Given the description of an element on the screen output the (x, y) to click on. 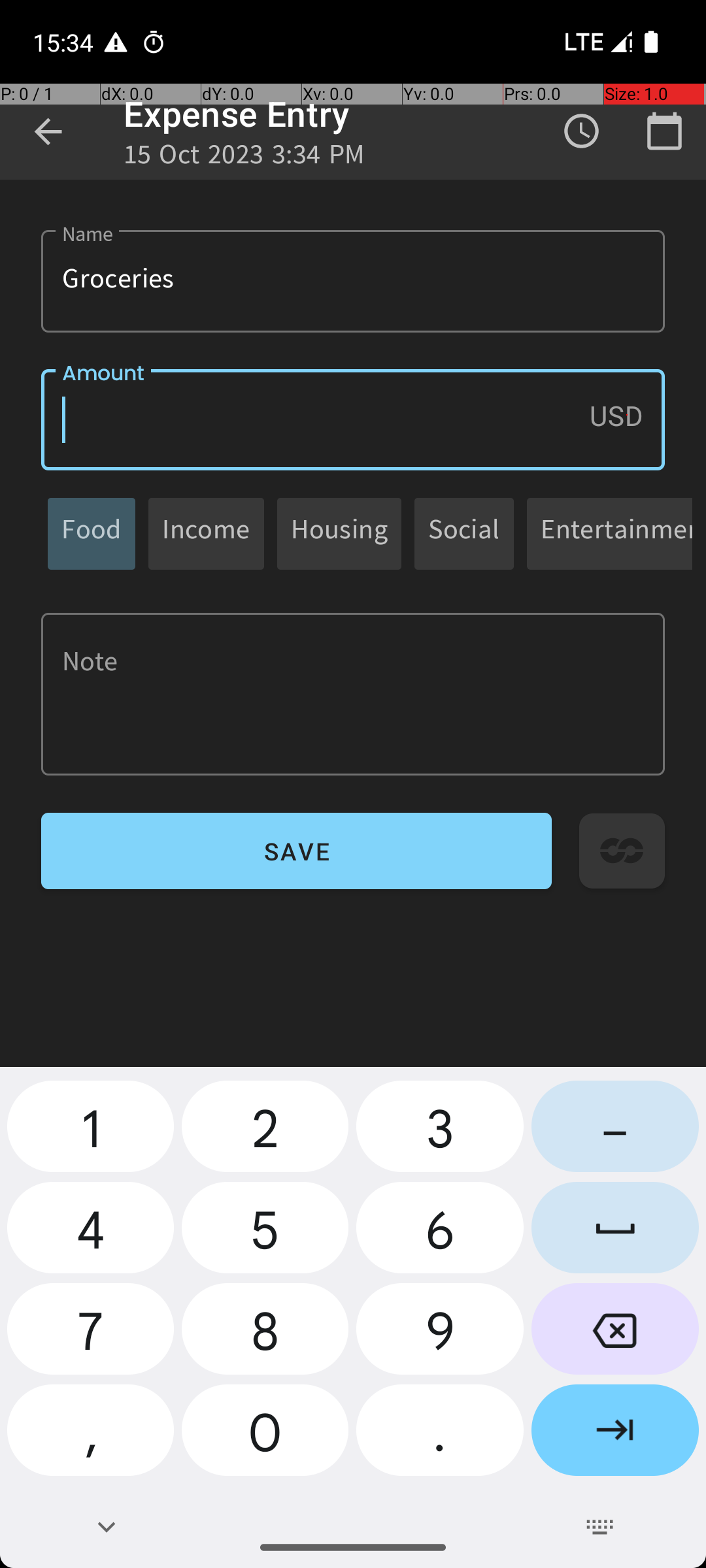
Groceries Element type: android.widget.EditText (352, 280)
Dash Element type: android.widget.FrameLayout (614, 1130)
